Given the description of an element on the screen output the (x, y) to click on. 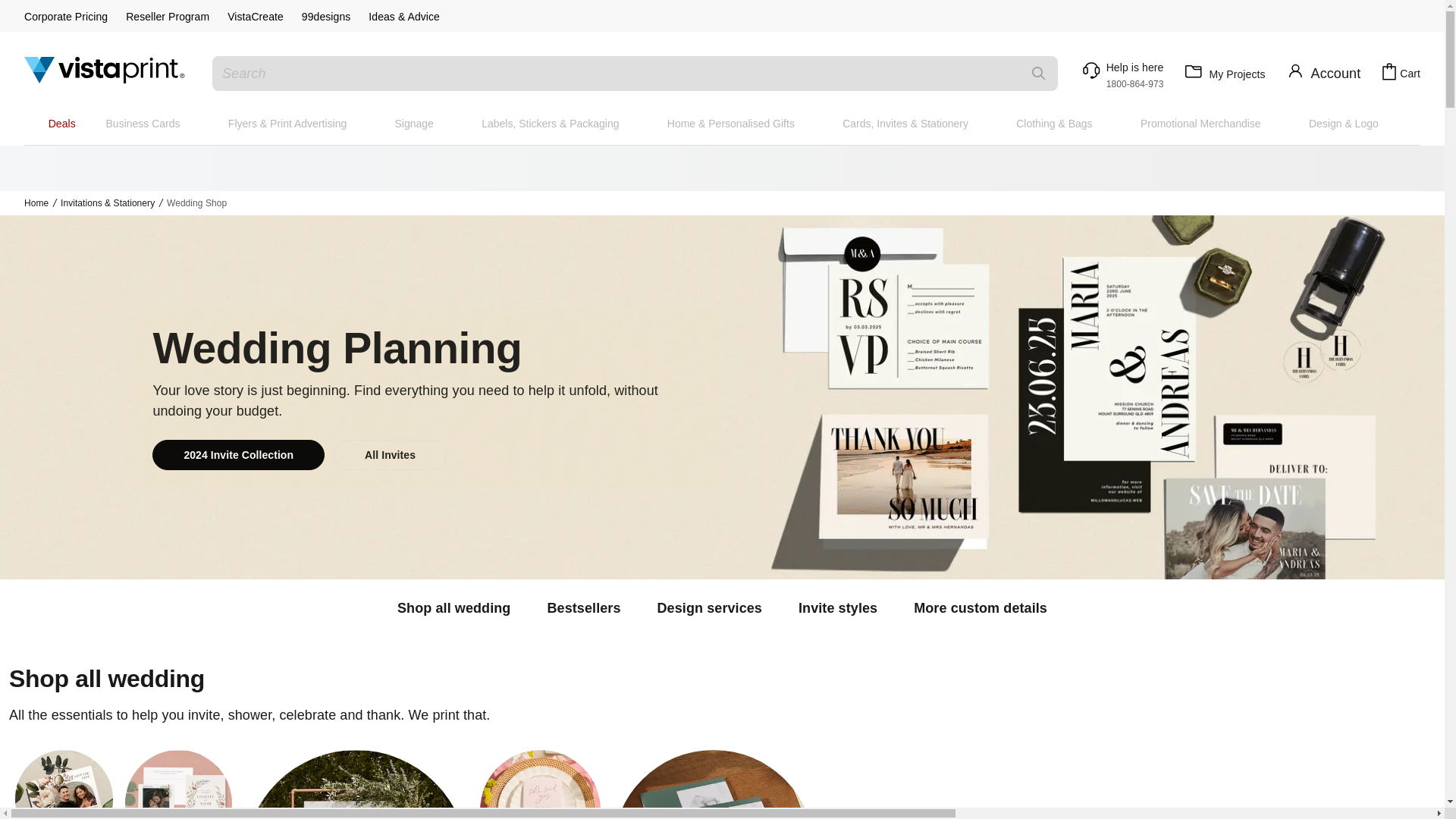
Business Cards (143, 123)
Deals (62, 123)
Corporate Pricing (65, 17)
VistaCreate (255, 17)
My Projects (1222, 73)
99designs (325, 17)
Reseller Program (167, 17)
Cart (1399, 73)
Account (1120, 73)
